Given the description of an element on the screen output the (x, y) to click on. 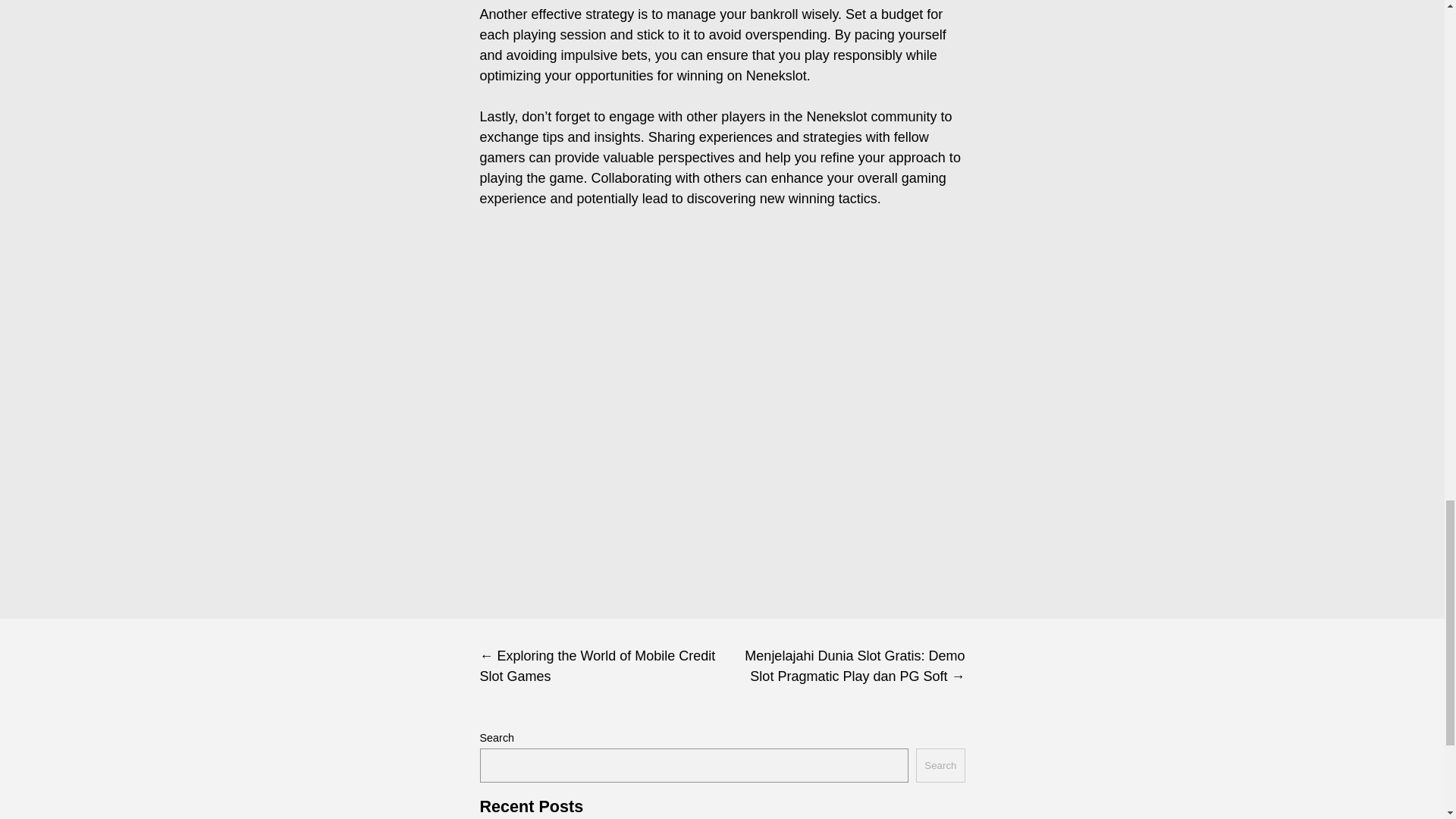
Exploring the World of Mobile Credit Slot Games (600, 666)
Search (939, 765)
